Given the description of an element on the screen output the (x, y) to click on. 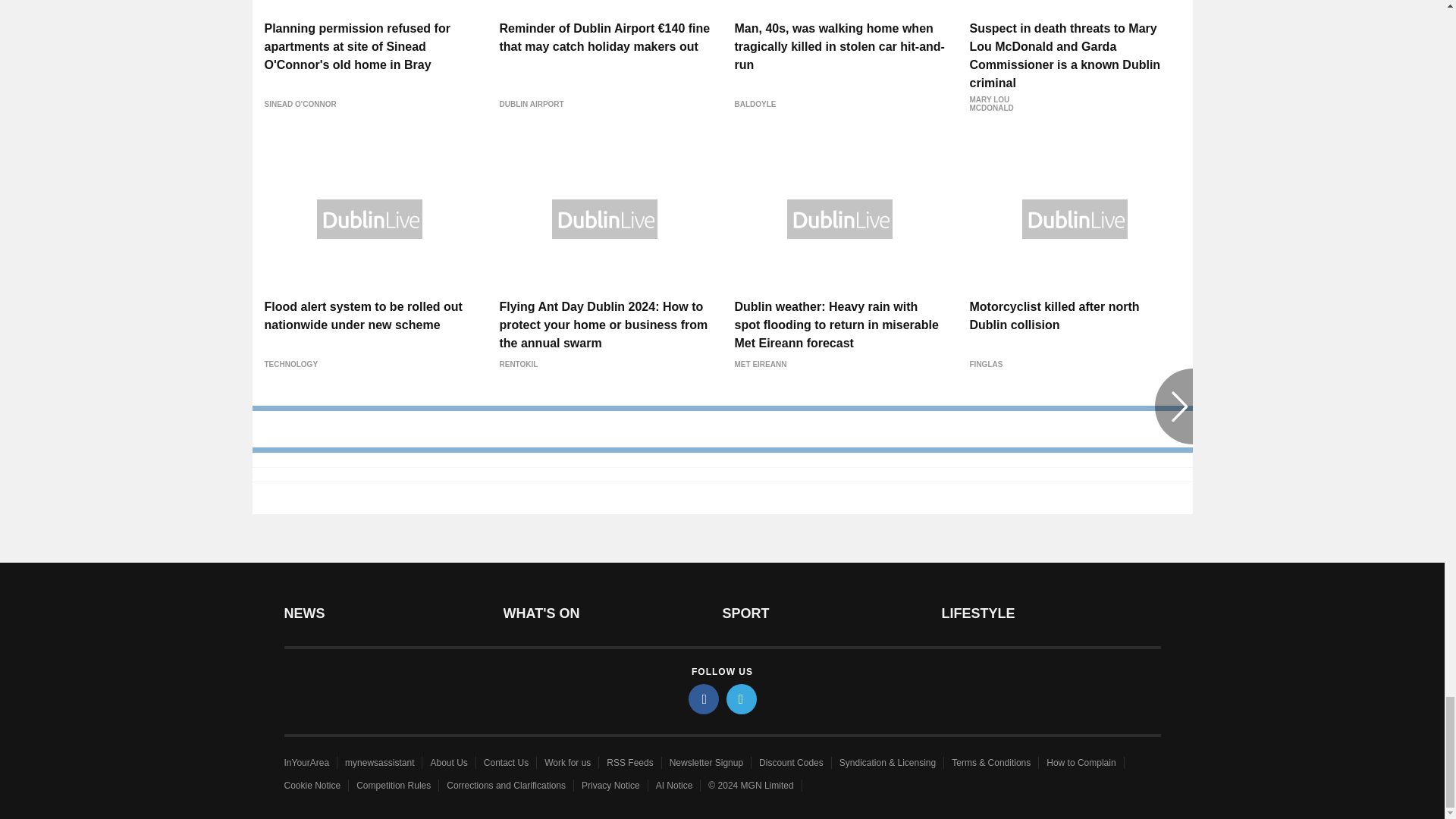
twitter (741, 698)
facebook (703, 698)
